Given the description of an element on the screen output the (x, y) to click on. 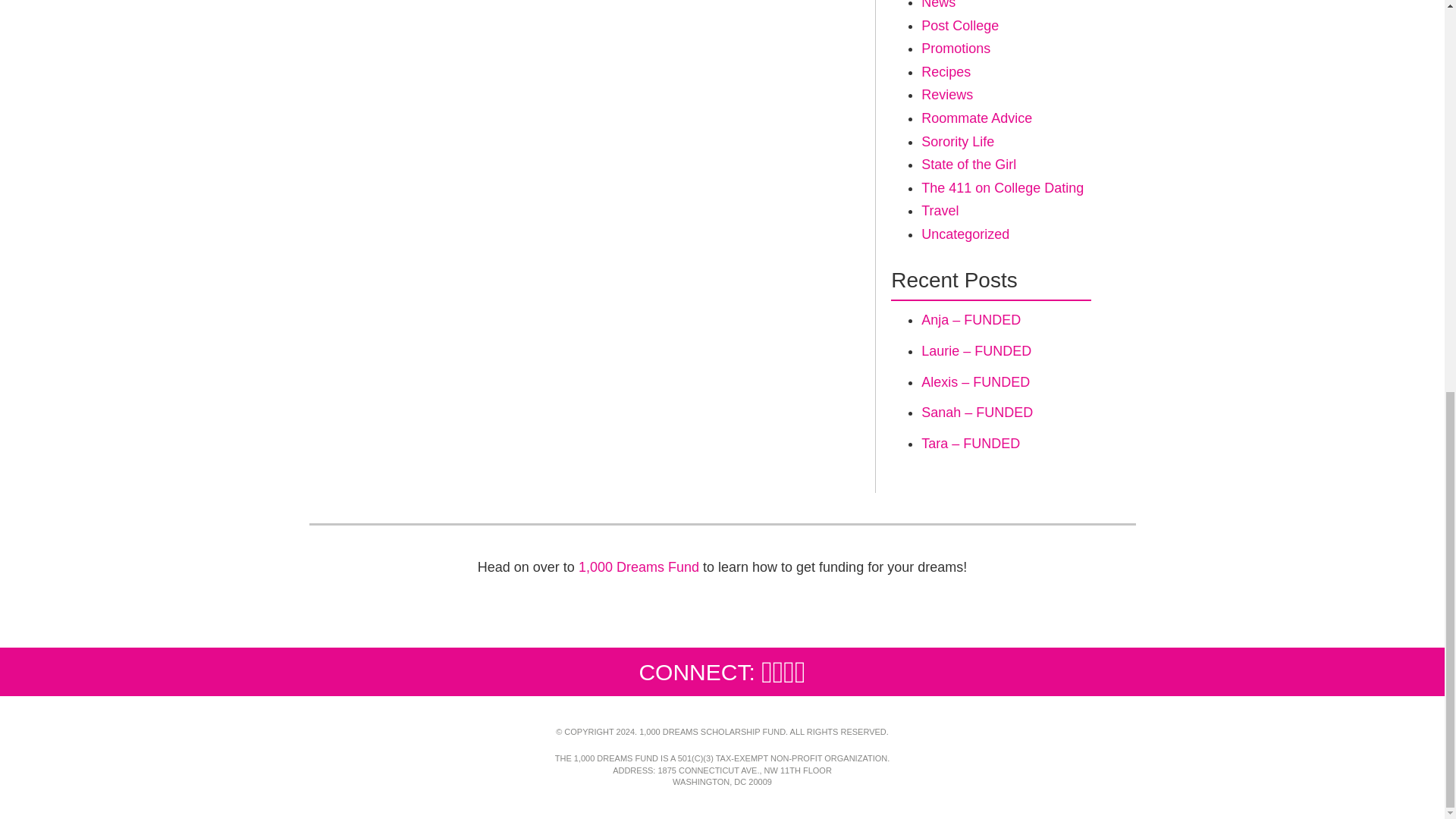
Promotions (955, 48)
Recipes (946, 71)
Post College (959, 25)
News (938, 4)
